Given the description of an element on the screen output the (x, y) to click on. 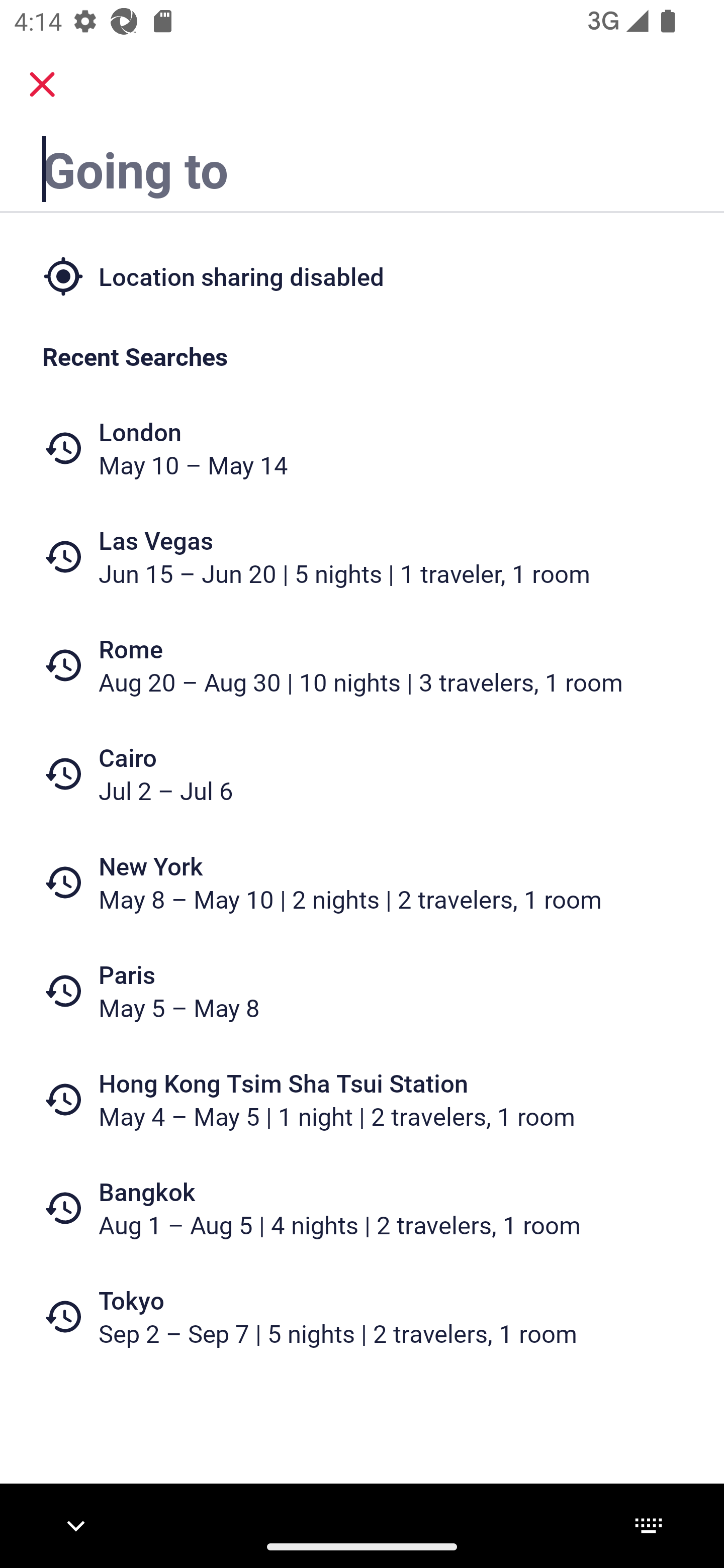
close. (42, 84)
Location sharing disabled (362, 275)
London May 10 – May 14 (362, 448)
Cairo Jul 2 – Jul 6 (362, 773)
Paris May 5 – May 8 (362, 990)
